Given the description of an element on the screen output the (x, y) to click on. 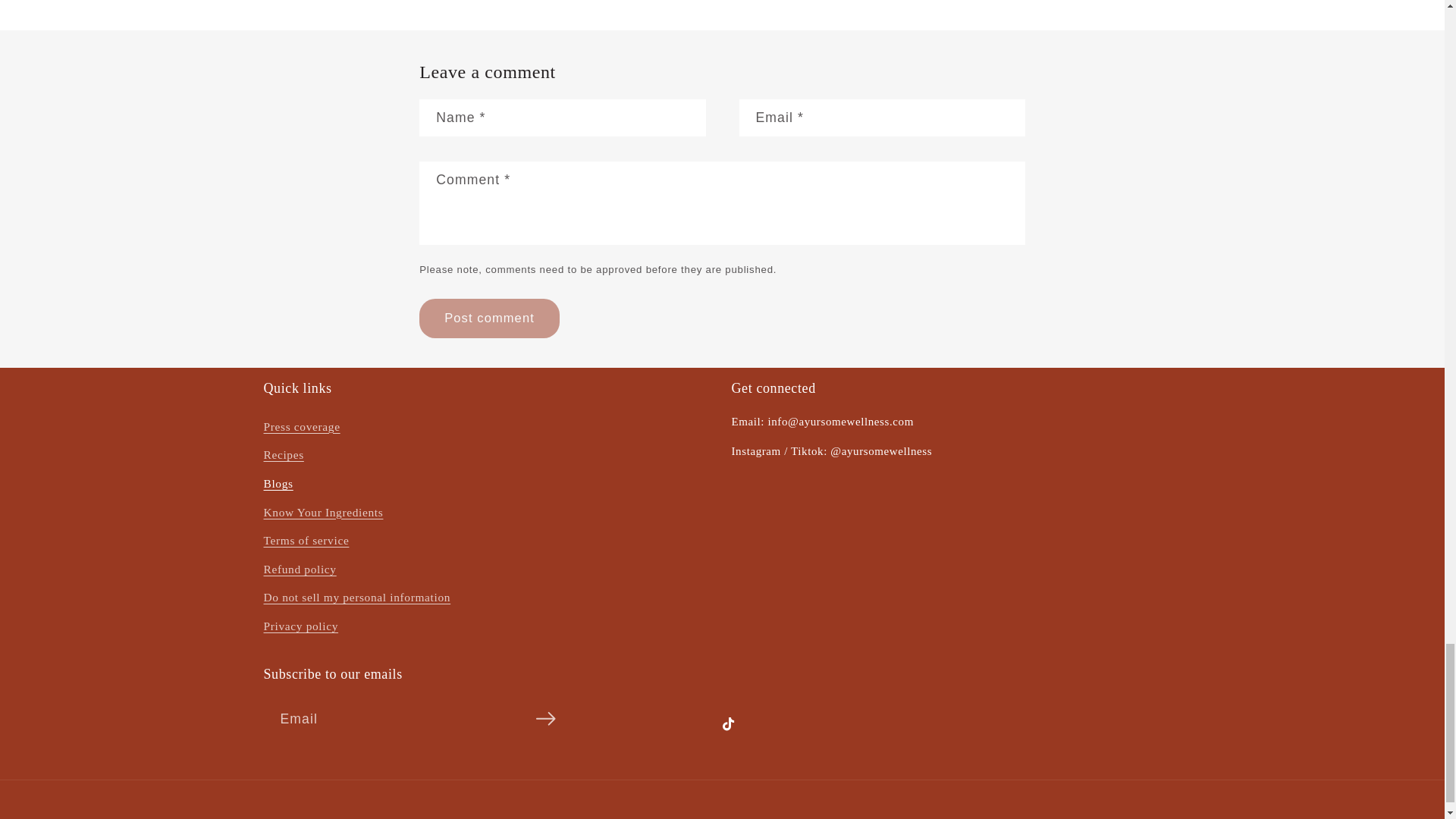
Know Your Ingredients (323, 512)
Do not sell my personal information (357, 597)
Refund policy (299, 569)
Blogs (278, 484)
Recipes (283, 455)
Post comment (489, 318)
Post comment (489, 318)
Press coverage (301, 428)
Terms of service (306, 541)
